Given the description of an element on the screen output the (x, y) to click on. 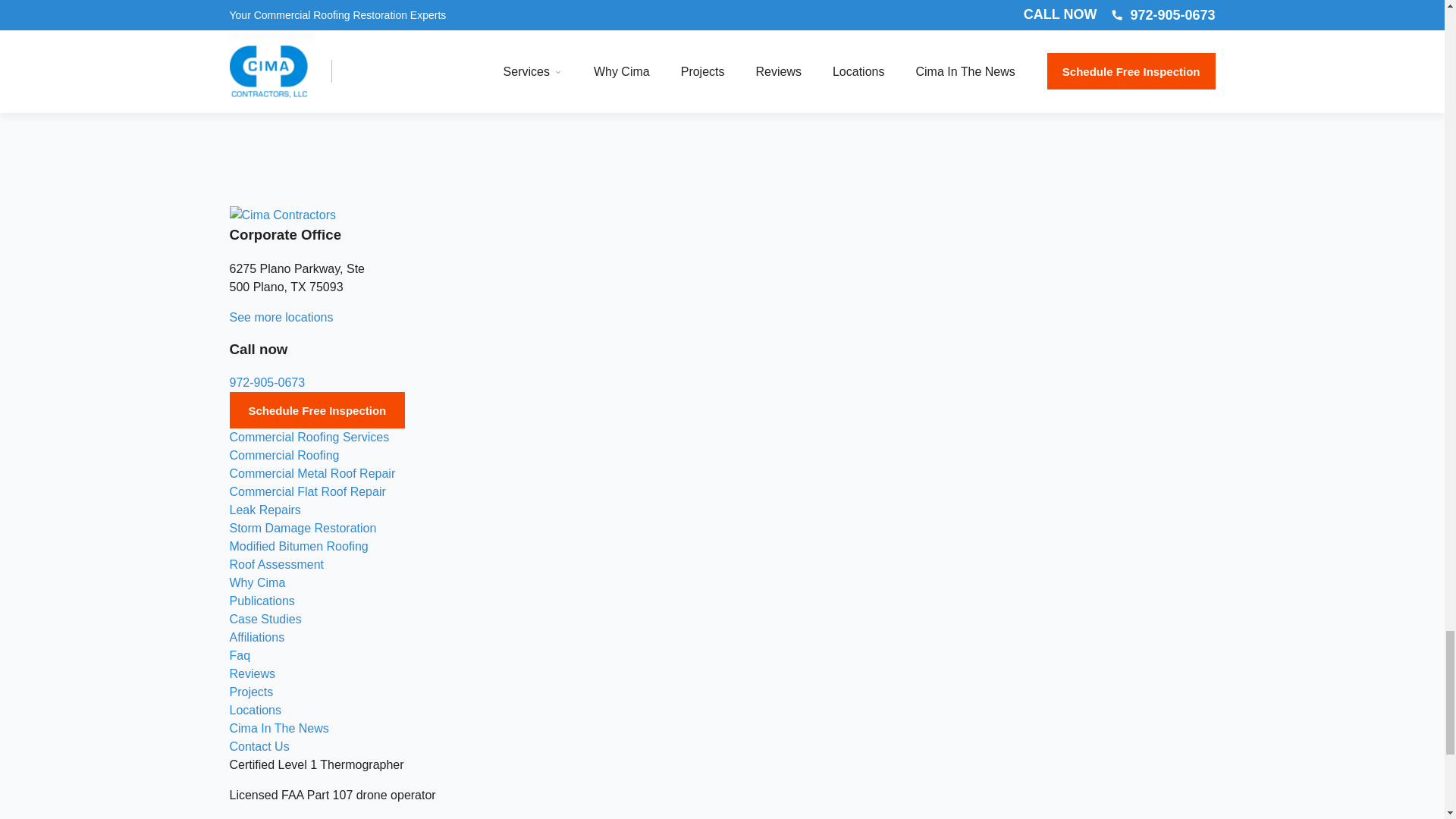
Affiliations (255, 331)
Commercial Roofing (283, 149)
Leak Repairs (263, 204)
Case Studies (264, 313)
Commercial Flat Roof Repair (306, 185)
Commercial Roofing Services (308, 131)
Projects (250, 386)
Roof Assessment (275, 258)
Schedule Free Inspection (316, 104)
972-905-0673 (266, 76)
